Given the description of an element on the screen output the (x, y) to click on. 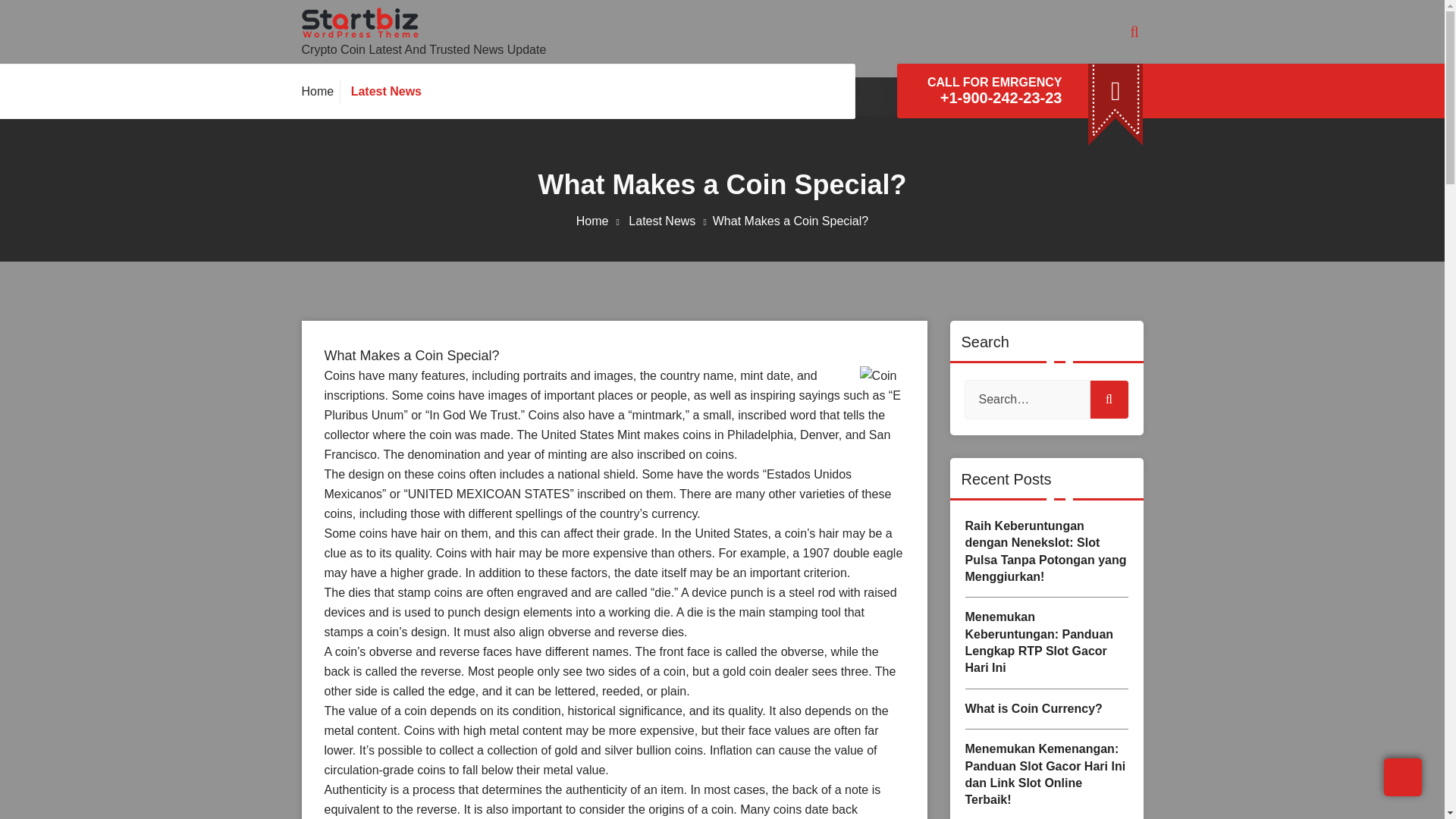
Home (320, 91)
What is Coin Currency? (1044, 709)
Home (320, 91)
Latest News (384, 91)
Home (601, 220)
Latest News (669, 220)
Latest News (384, 91)
